Given the description of an element on the screen output the (x, y) to click on. 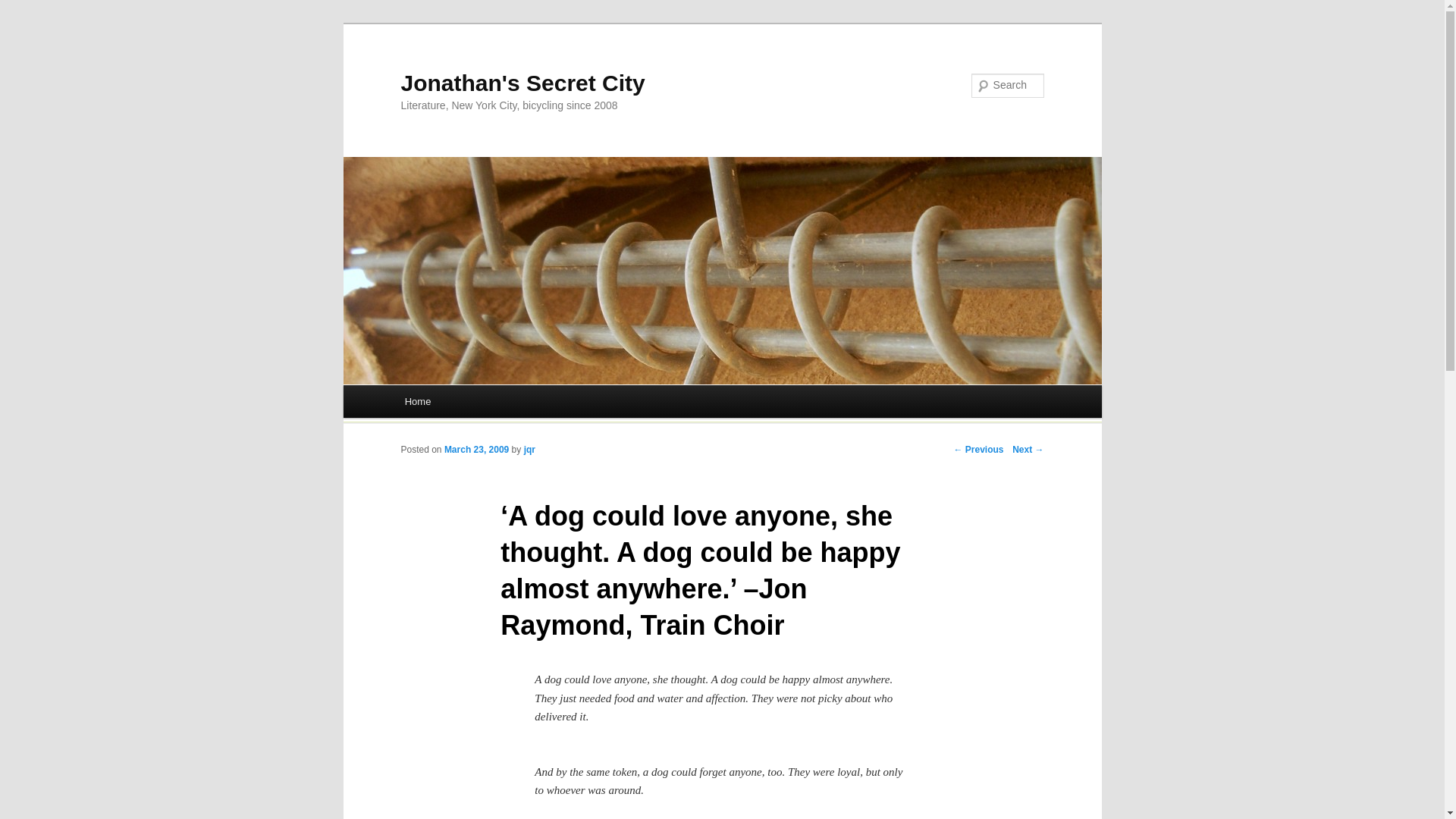
Home (417, 400)
March 23, 2009 (476, 449)
Jonathan's Secret City (522, 82)
Search (24, 8)
jqr (529, 449)
Jonathan's Secret City (522, 82)
View all posts by jqr (529, 449)
